Given the description of an element on the screen output the (x, y) to click on. 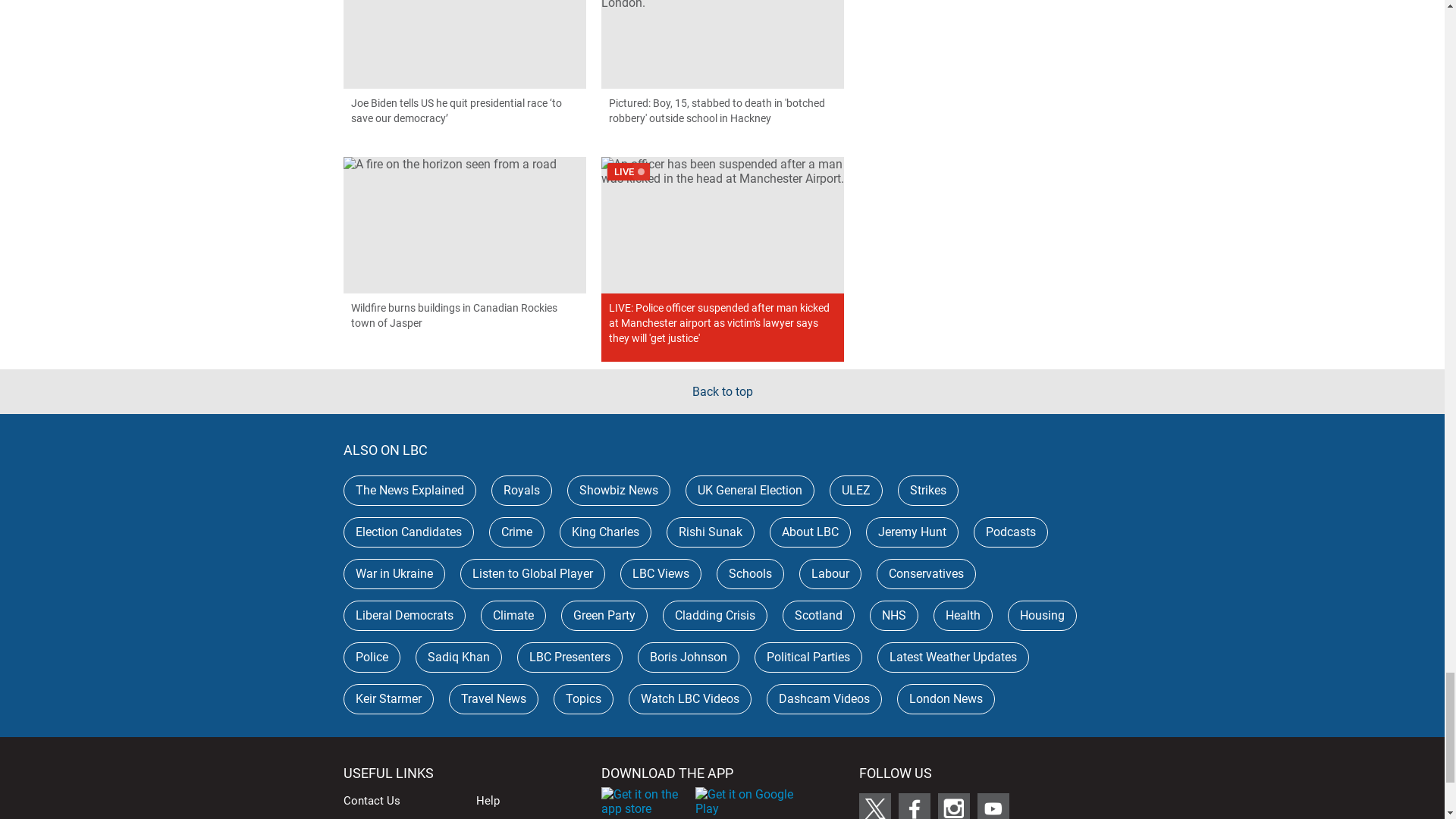
Follow LBC on Instagram (953, 806)
Follow LBC on X (874, 806)
Follow LBC on Facebook (914, 806)
Back to top (721, 391)
Follow LBC on Youtube (992, 806)
